Given the description of an element on the screen output the (x, y) to click on. 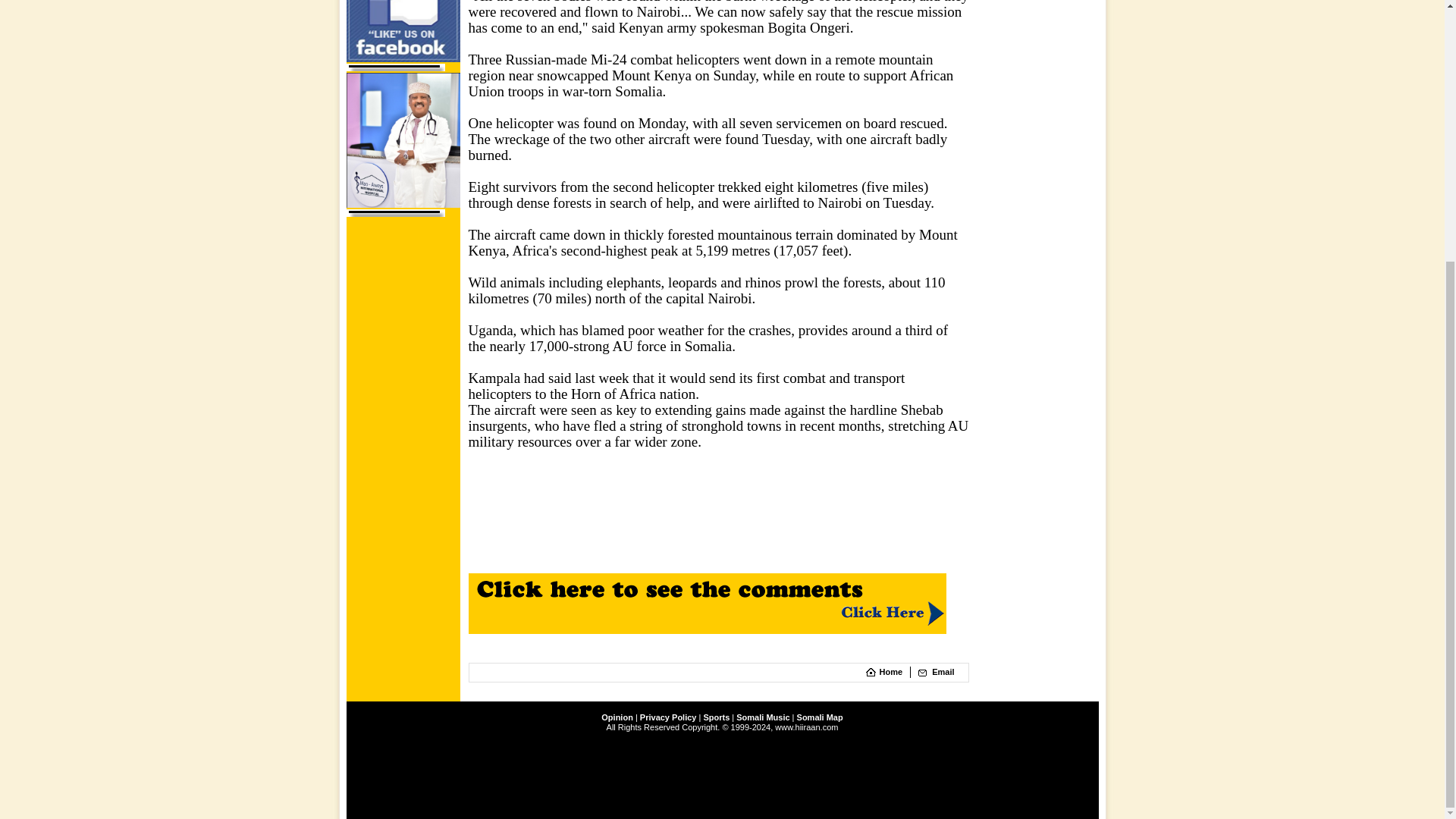
Privacy Policy (668, 716)
Sports (716, 716)
Somali Map (819, 716)
Somali Music (762, 716)
Home (890, 671)
Email (942, 671)
Opinion (617, 716)
